Given the description of an element on the screen output the (x, y) to click on. 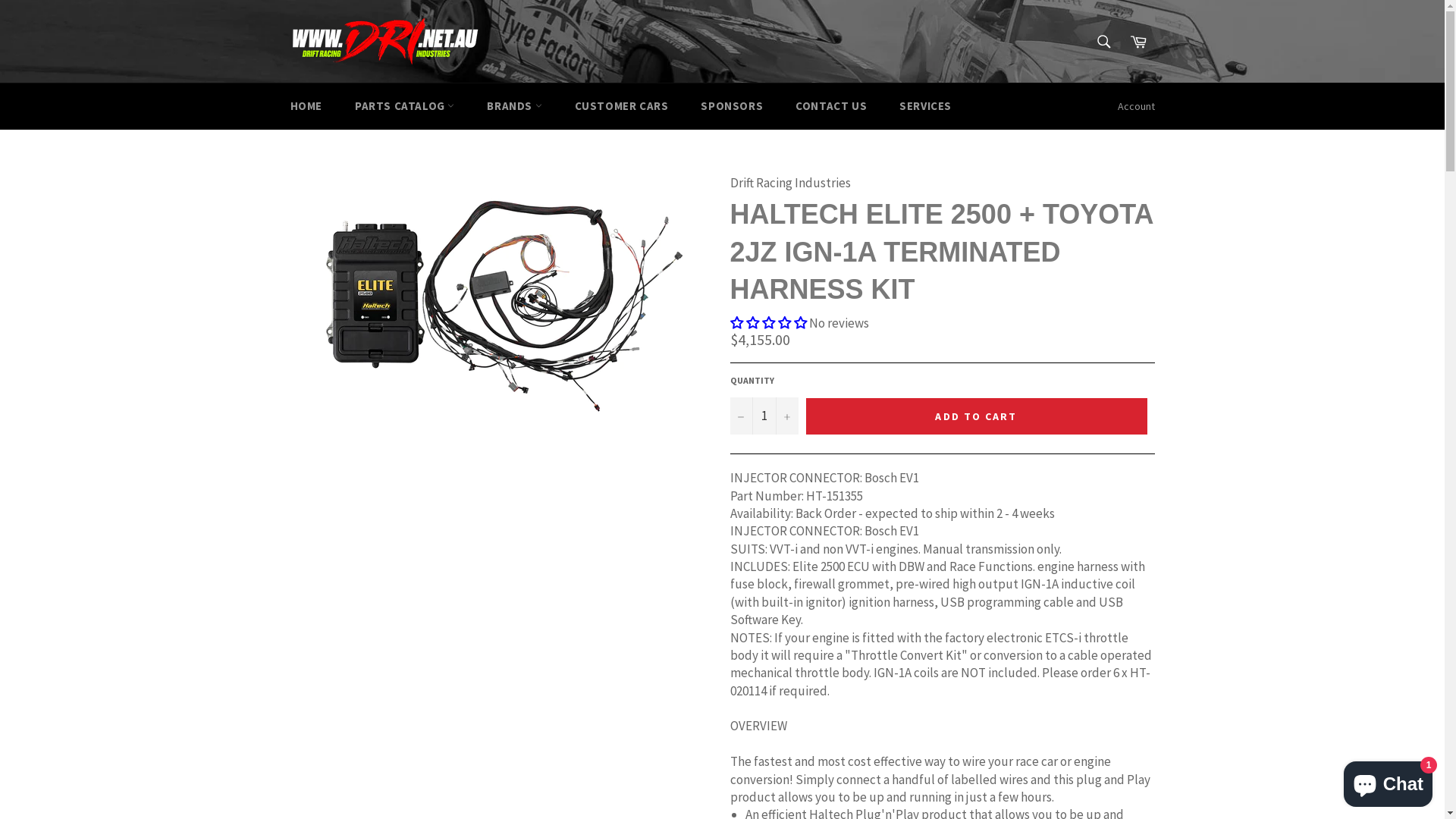
Account Element type: text (1136, 106)
CUSTOMER CARS Element type: text (621, 106)
HOME Element type: text (305, 106)
Shopify online store chat Element type: hover (1388, 780)
SPONSORS Element type: text (731, 106)
ADD TO CART Element type: text (975, 416)
PARTS CATALOG Element type: text (404, 106)
Search Element type: text (1104, 41)
CONTACT US Element type: text (830, 106)
+ Element type: text (786, 415)
Cart Element type: text (1138, 41)
SERVICES Element type: text (925, 106)
BRANDS Element type: text (513, 106)
